Given the description of an element on the screen output the (x, y) to click on. 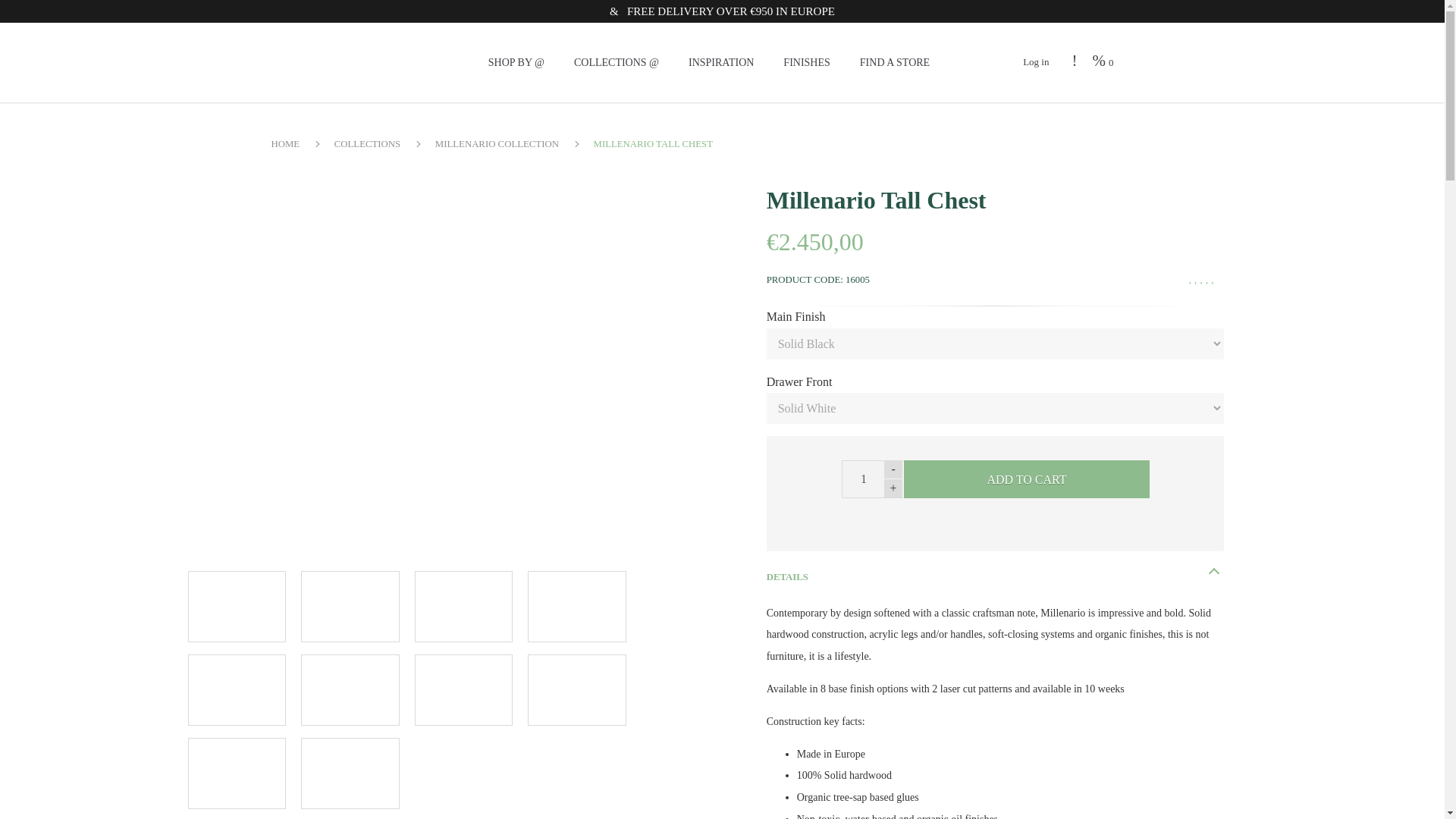
Millenario Tall Chest (236, 606)
Millenario Tall Chest (576, 689)
Millenario Tall Chest (576, 606)
Millenario Tall Chest (349, 606)
SHOP BY (515, 62)
INSPIRATION (721, 62)
FIND A STORE (895, 62)
Millenario Tall Chest (463, 689)
Millenario Tall Chest (463, 606)
FINISHES (806, 62)
Log in (1035, 61)
Millenario Tall Chest (349, 689)
Millenario Tall Chest (236, 689)
Millenario Tall Chest (349, 773)
1 (871, 478)
